Given the description of an element on the screen output the (x, y) to click on. 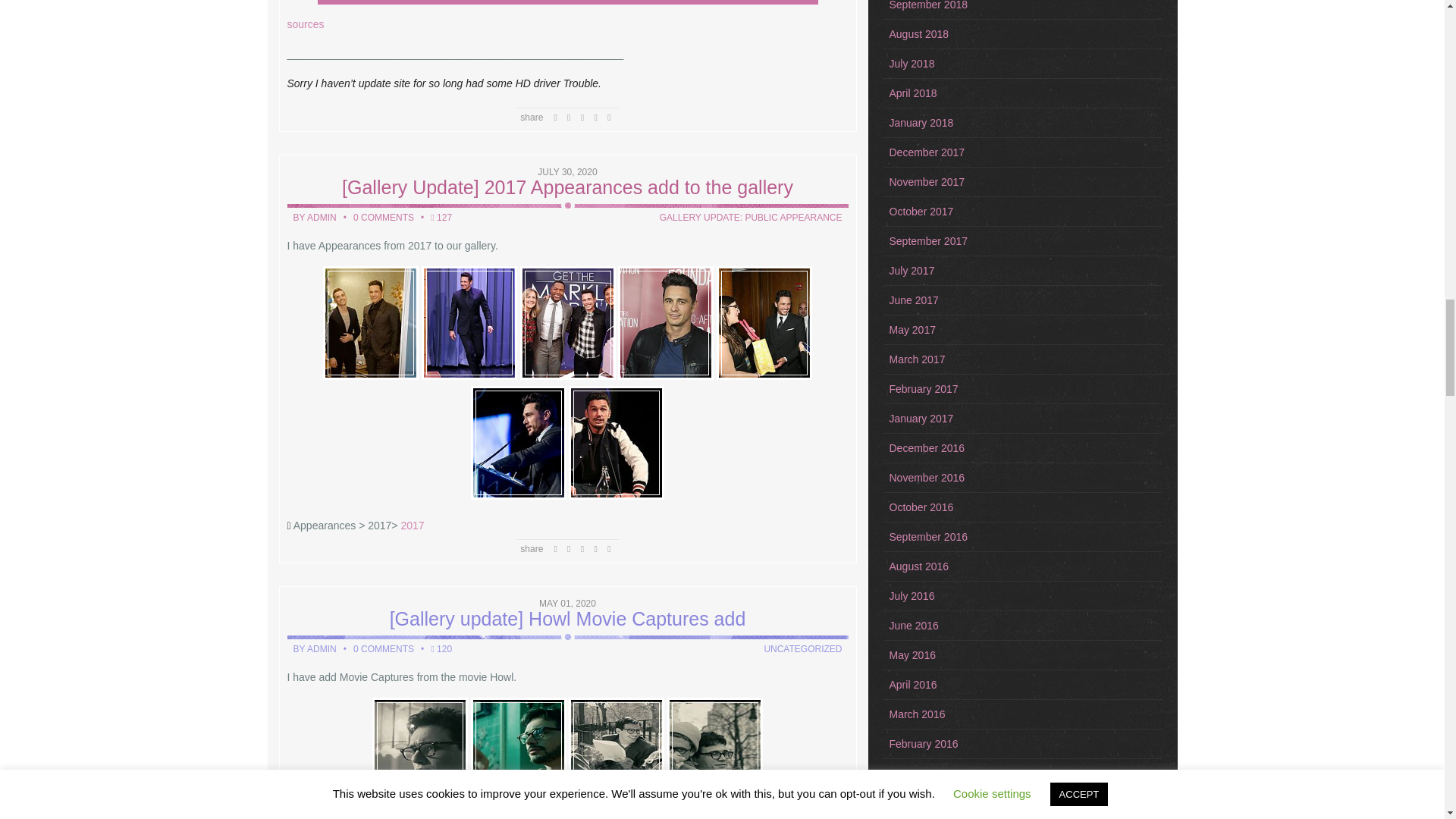
GALLERY UPDATE: PUBLIC APPEARANCE (751, 217)
sources (304, 24)
 127  (442, 217)
2017 (411, 525)
0 COMMENTS (383, 217)
